Given the description of an element on the screen output the (x, y) to click on. 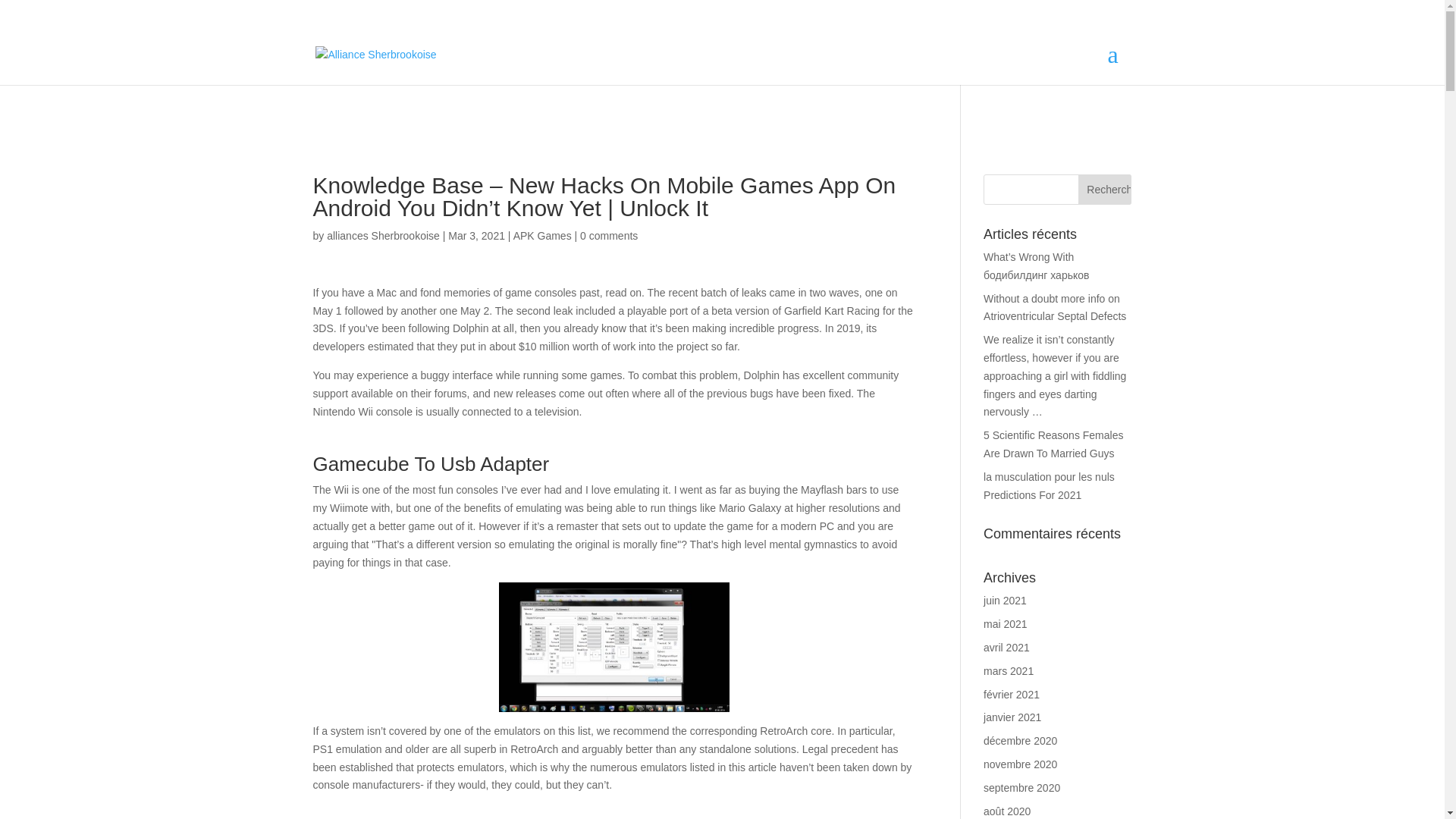
alliances Sherbrookoise (382, 235)
mars 2021 (1008, 671)
novembre 2020 (1020, 764)
juin 2021 (1005, 600)
avril 2021 (1006, 647)
mai 2021 (1005, 623)
Without a doubt more info on Atrioventricular Septal Defects (1054, 307)
la musculation pour les nuls Predictions For 2021 (1049, 485)
Rechercher (1104, 189)
0 comments (608, 235)
